Given the description of an element on the screen output the (x, y) to click on. 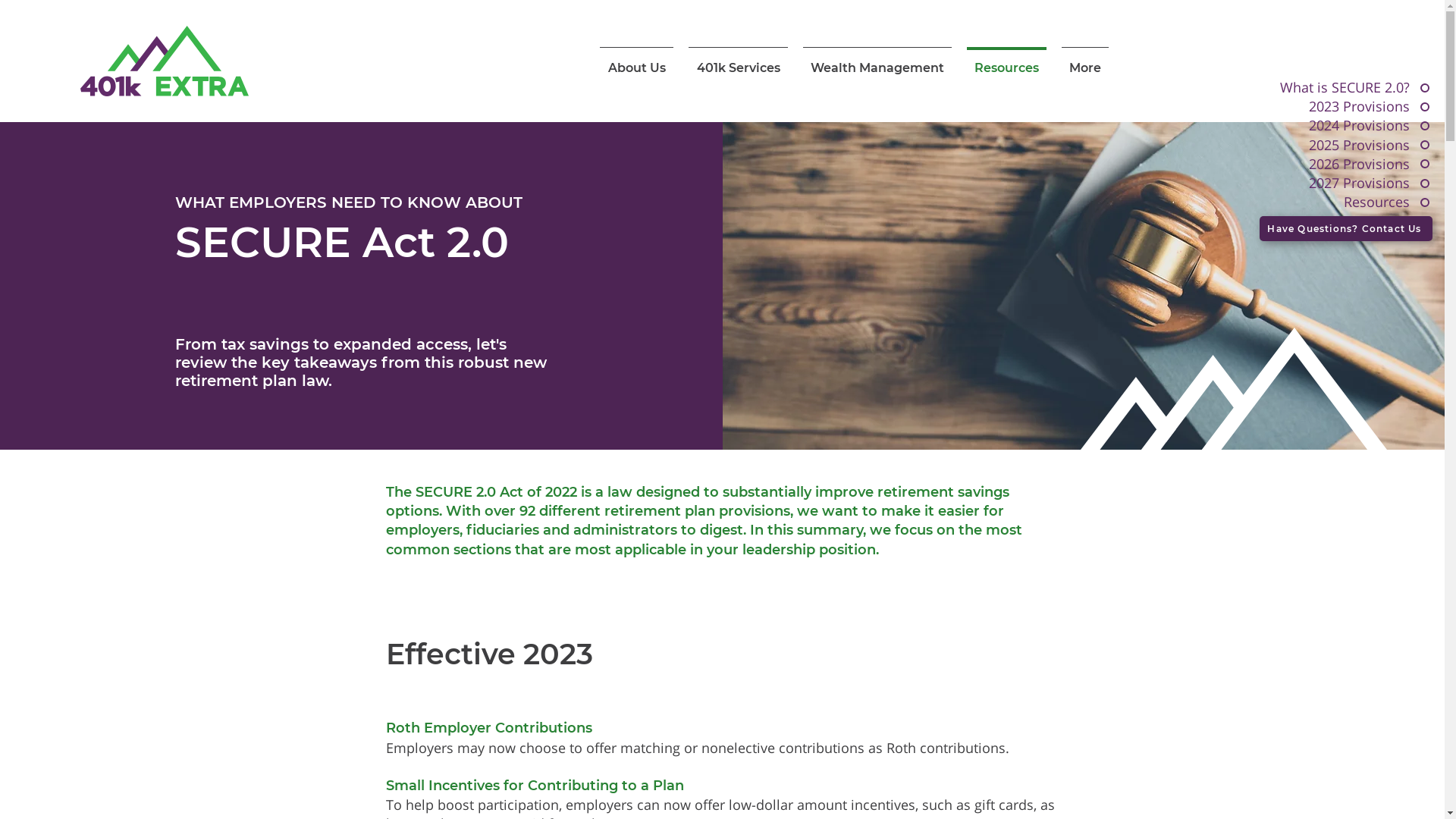
2025 Provisions Element type: text (1305, 144)
2026 Provisions Element type: text (1305, 163)
What is SECURE 2.0? Element type: text (1305, 87)
Wealth Management Element type: text (877, 61)
Resources Element type: text (1305, 201)
2027 Provisions Element type: text (1305, 182)
About Us Element type: text (636, 61)
Resources Element type: text (1006, 61)
401k Services Element type: text (737, 61)
2024 Provisions Element type: text (1305, 125)
2023 Provisions Element type: text (1305, 106)
Have Questions? Contact Us Element type: text (1345, 228)
